Given the description of an element on the screen output the (x, y) to click on. 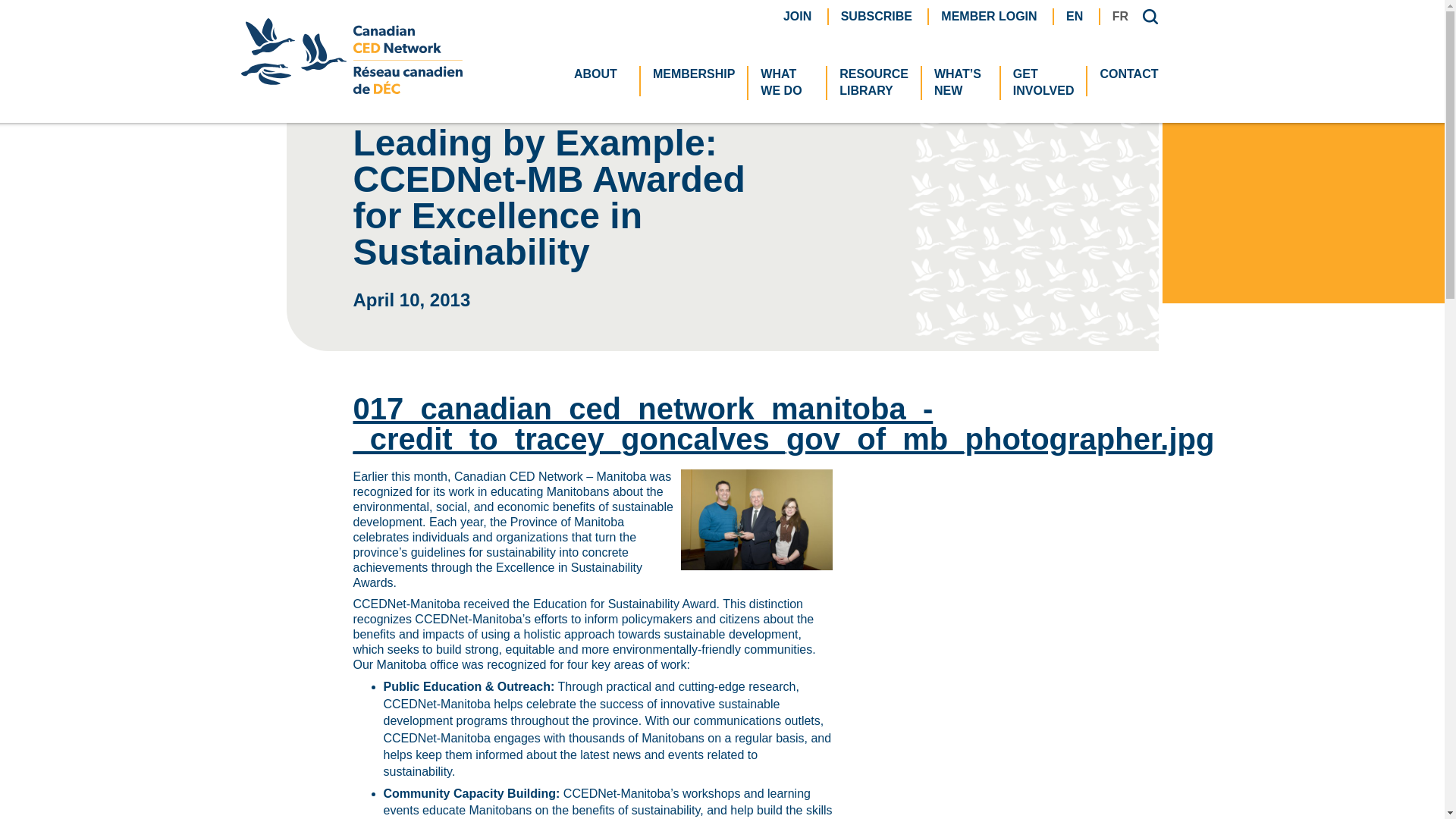
MEMBERSHIP (693, 74)
JOIN (796, 15)
SUBSCRIBE (786, 82)
ABOUT (876, 15)
MEMBER LOGIN (600, 74)
HOME (988, 15)
EN (369, 37)
RESOURCE LIBRARY (1074, 15)
GET INVOLVED (874, 82)
